Given the description of an element on the screen output the (x, y) to click on. 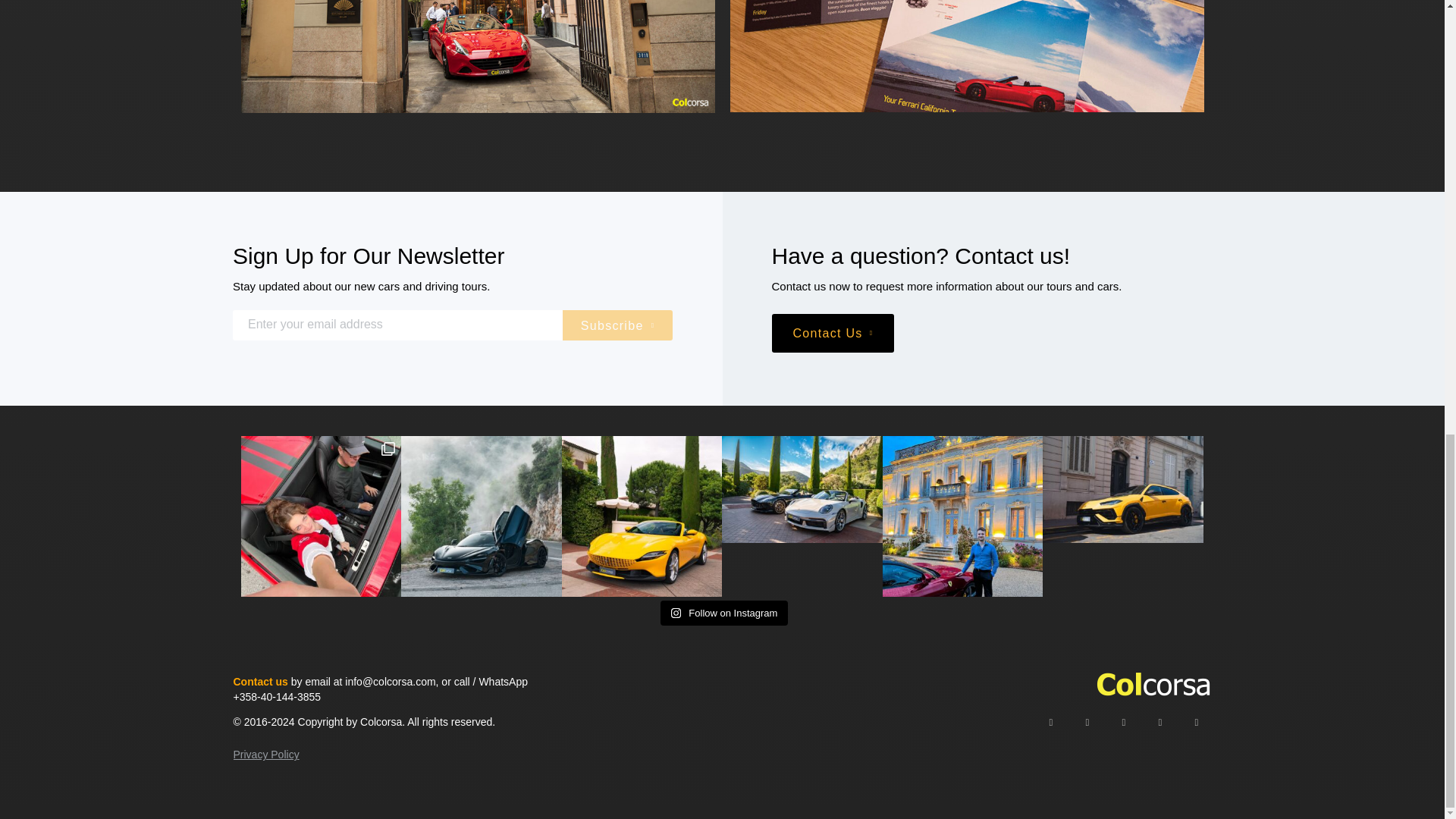
Follow on Instagram (725, 613)
Subscribe (617, 325)
Contact Us (833, 332)
Privacy Policy (265, 754)
